Given the description of an element on the screen output the (x, y) to click on. 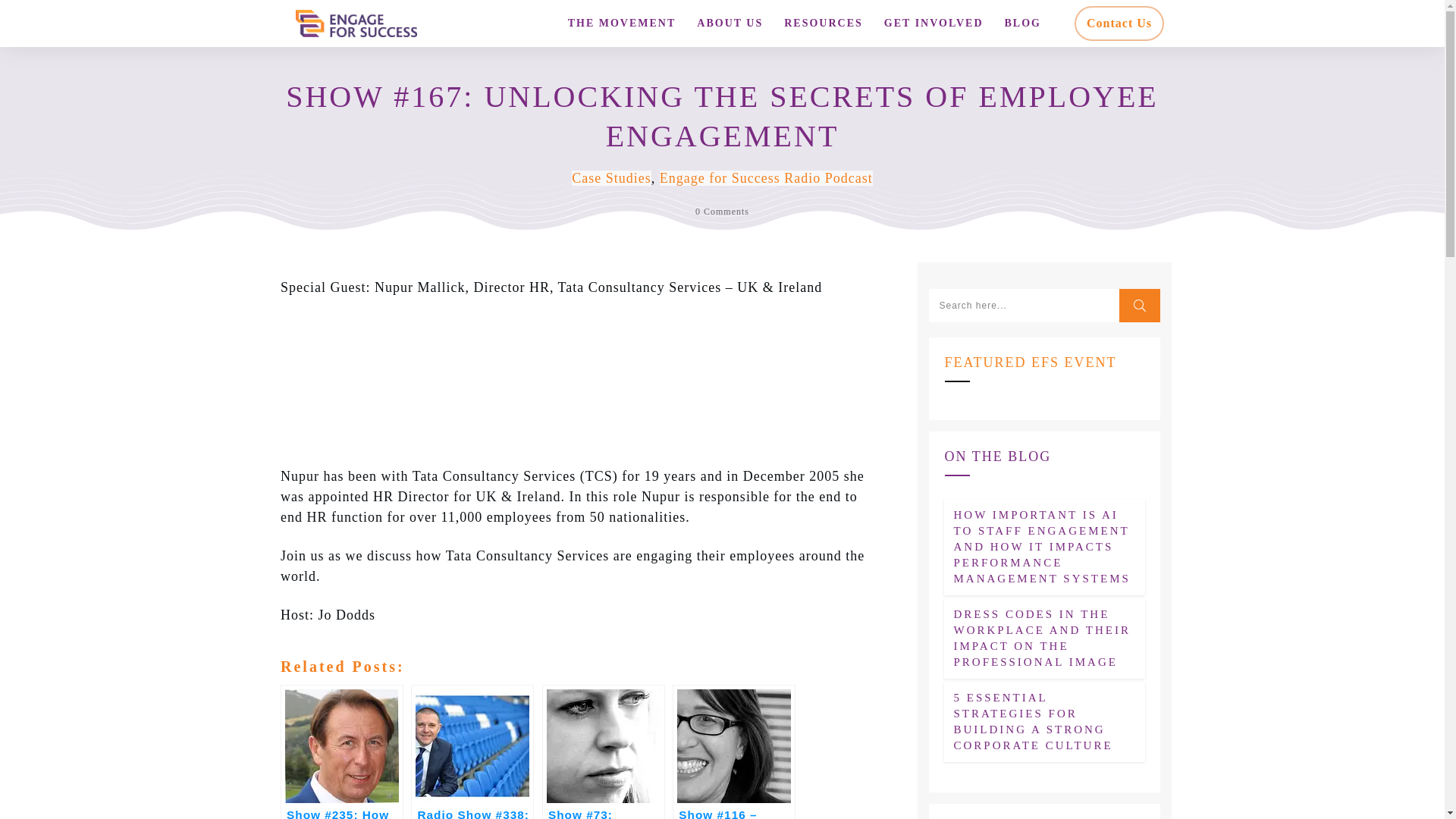
Engage for Success Radio Podcast (765, 177)
Case Studies (611, 177)
Engage for Success Radio Podcast (765, 177)
ABOUT US (729, 23)
Contact Us (1118, 23)
BLOG (1022, 23)
RESOURCES (823, 23)
Case Studies (611, 177)
GET INVOLVED (933, 23)
